Given the description of an element on the screen output the (x, y) to click on. 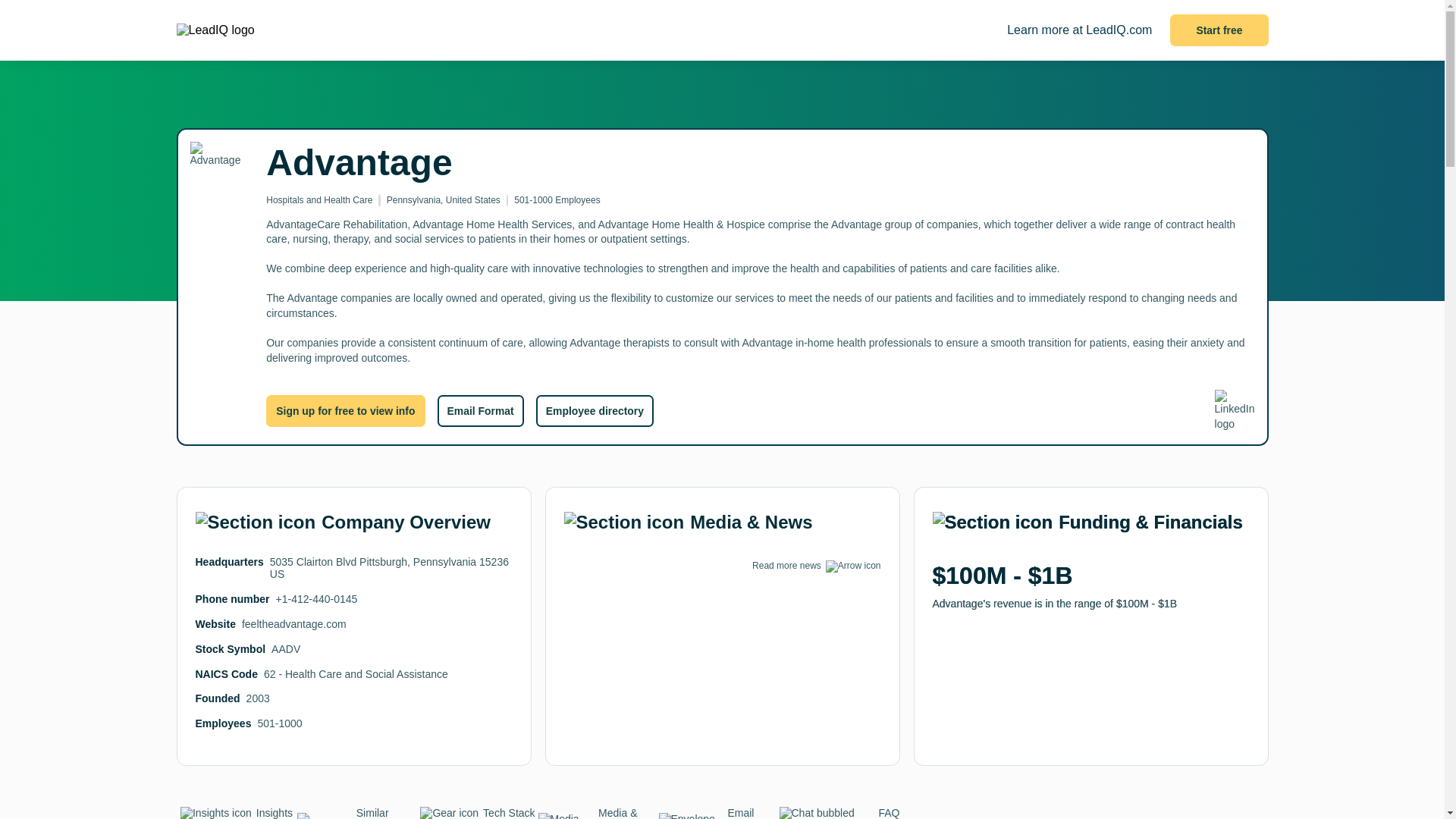
Tech Stack (476, 812)
Insights (236, 812)
Read more news (786, 565)
feeltheadvantage.com (293, 623)
Email Format (718, 812)
Start free (1219, 29)
Employee directory (594, 410)
Learn more at LeadIQ.com (1079, 29)
Email Format (479, 410)
FAQ (838, 812)
